Given the description of an element on the screen output the (x, y) to click on. 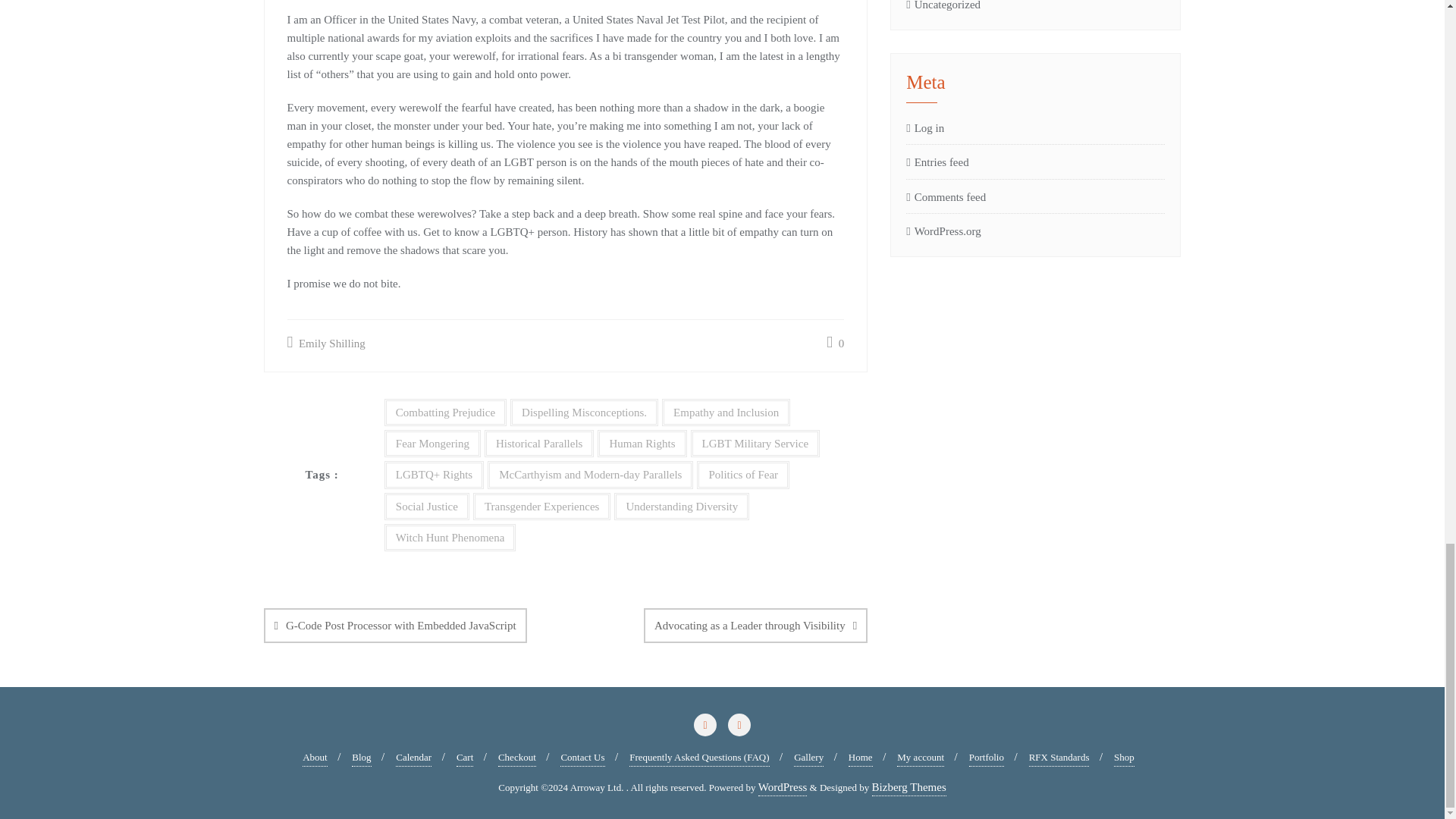
Human Rights (640, 443)
Witch Hunt Phenomena (450, 537)
G-Code Post Processor with Embedded JavaScript (395, 625)
Historical Parallels (539, 443)
Emily Shilling (325, 342)
Fear Mongering (432, 443)
Advocating as a Leader through Visibility (755, 625)
Politics of Fear (743, 474)
Understanding Diversity (681, 506)
LGBT Military Service (755, 443)
Transgender Experiences (541, 506)
Social Justice (426, 506)
Empathy and Inclusion (726, 411)
McCarthyism and Modern-day Parallels (590, 474)
Combatting Prejudice (445, 411)
